Given the description of an element on the screen output the (x, y) to click on. 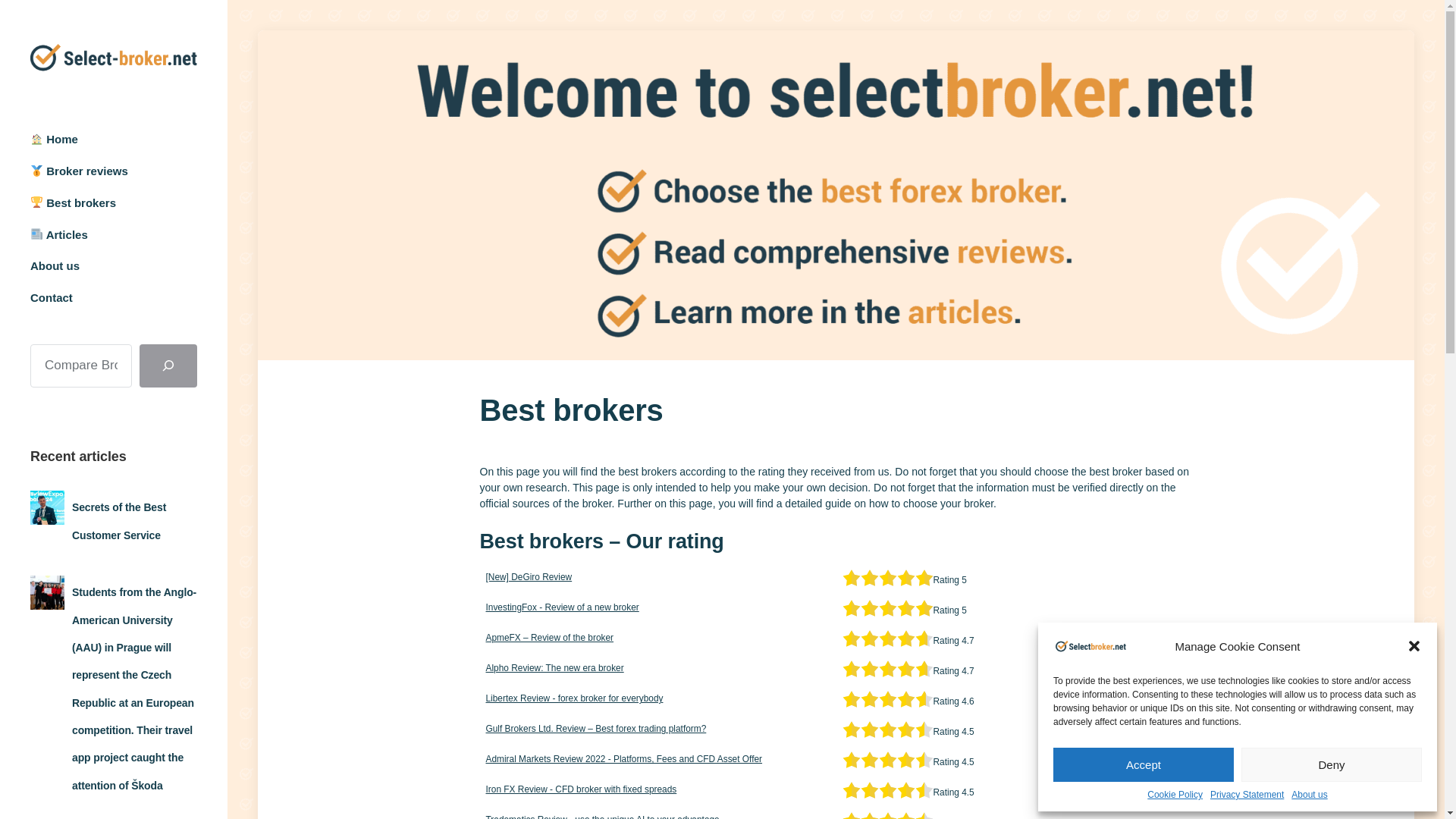
About us (1308, 794)
Articles (58, 234)
About us (55, 265)
Permalink to Secrets of the Best Customer Service (118, 520)
Privacy Statement (1246, 794)
selectbroker-logo - Select-Broker.net (1090, 646)
Home (54, 138)
Cookie Policy (1174, 794)
Contact (51, 297)
Broker reviews (79, 170)
Select-Broker.net (113, 57)
Secrets of the Best Customer Service (118, 520)
Deny (1331, 764)
Best brokers (73, 202)
